Given the description of an element on the screen output the (x, y) to click on. 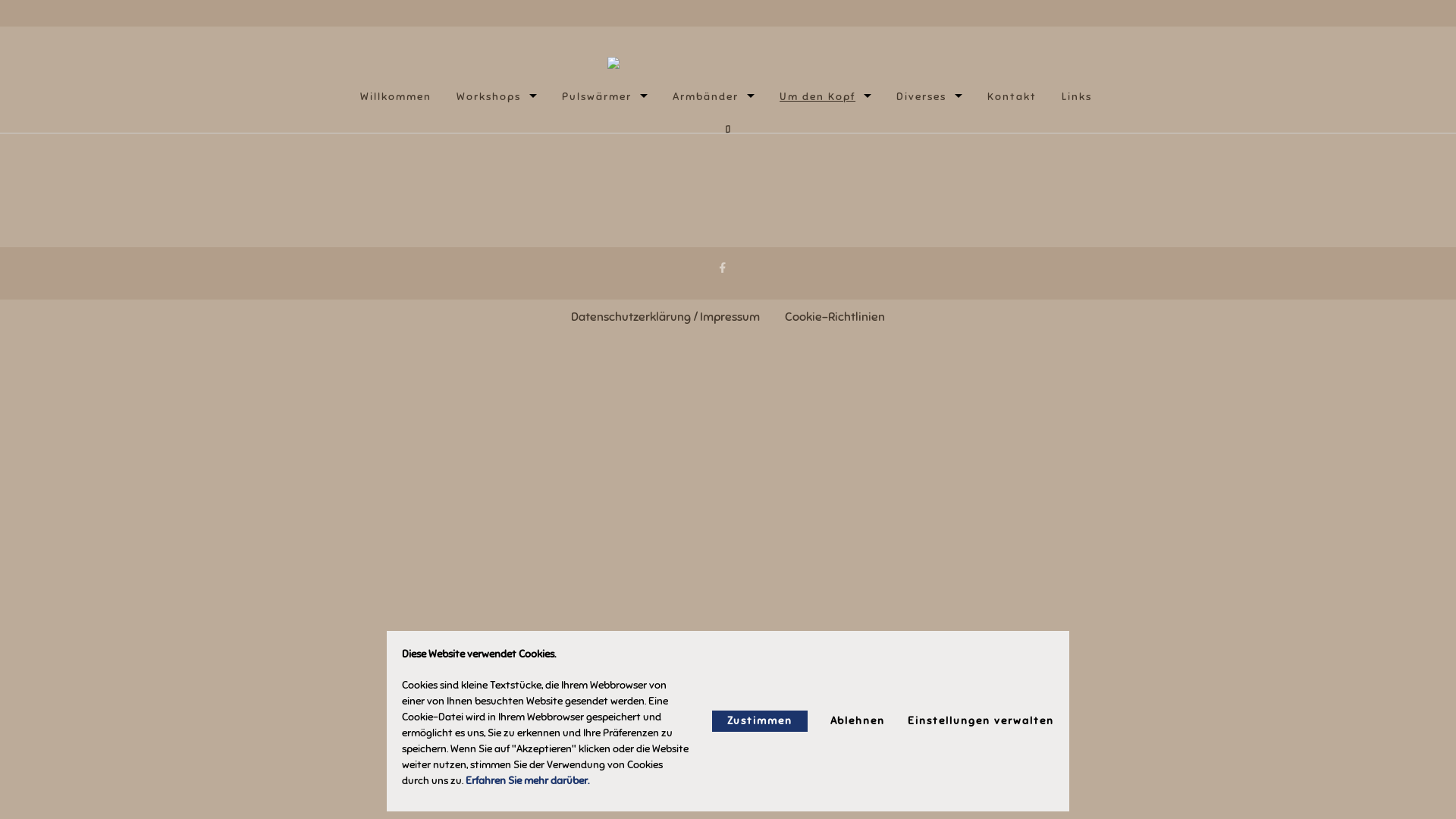
Einstellungen verwalten Element type: text (980, 720)
Ablehnen Element type: text (857, 720)
Willkommen Element type: text (395, 96)
Kontakt Element type: text (1011, 96)
Links Element type: text (1076, 96)
Zustimmen Element type: text (759, 720)
Cookie-Richtlinien Element type: text (834, 316)
Carlotta Piu Element type: hover (723, 62)
